Given the description of an element on the screen output the (x, y) to click on. 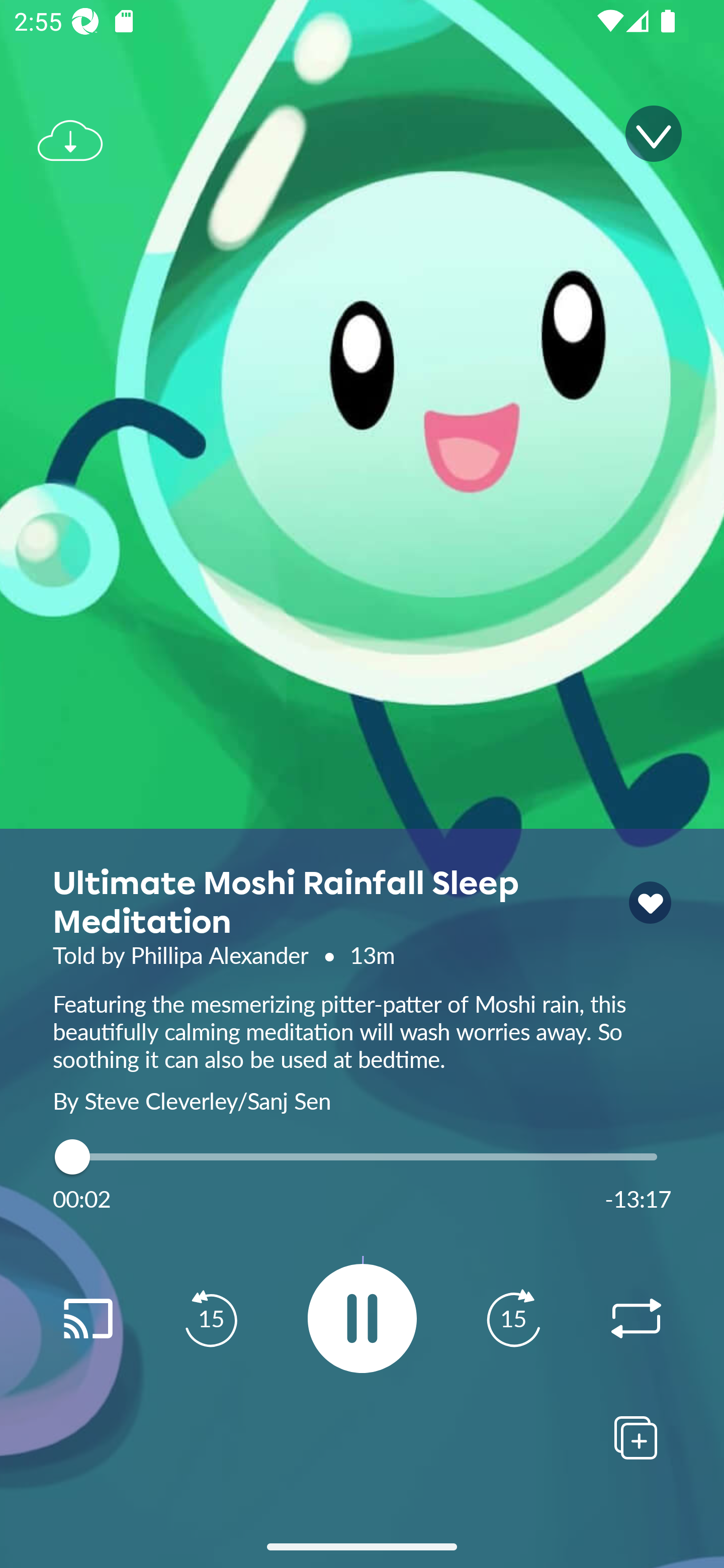
lock icon (650, 902)
0.00374 Pause (361, 1317)
Replay (87, 1318)
Replay 15 (210, 1318)
Replay 15 (513, 1318)
Replay (635, 1318)
Add To Playlists (635, 1437)
